Given the description of an element on the screen output the (x, y) to click on. 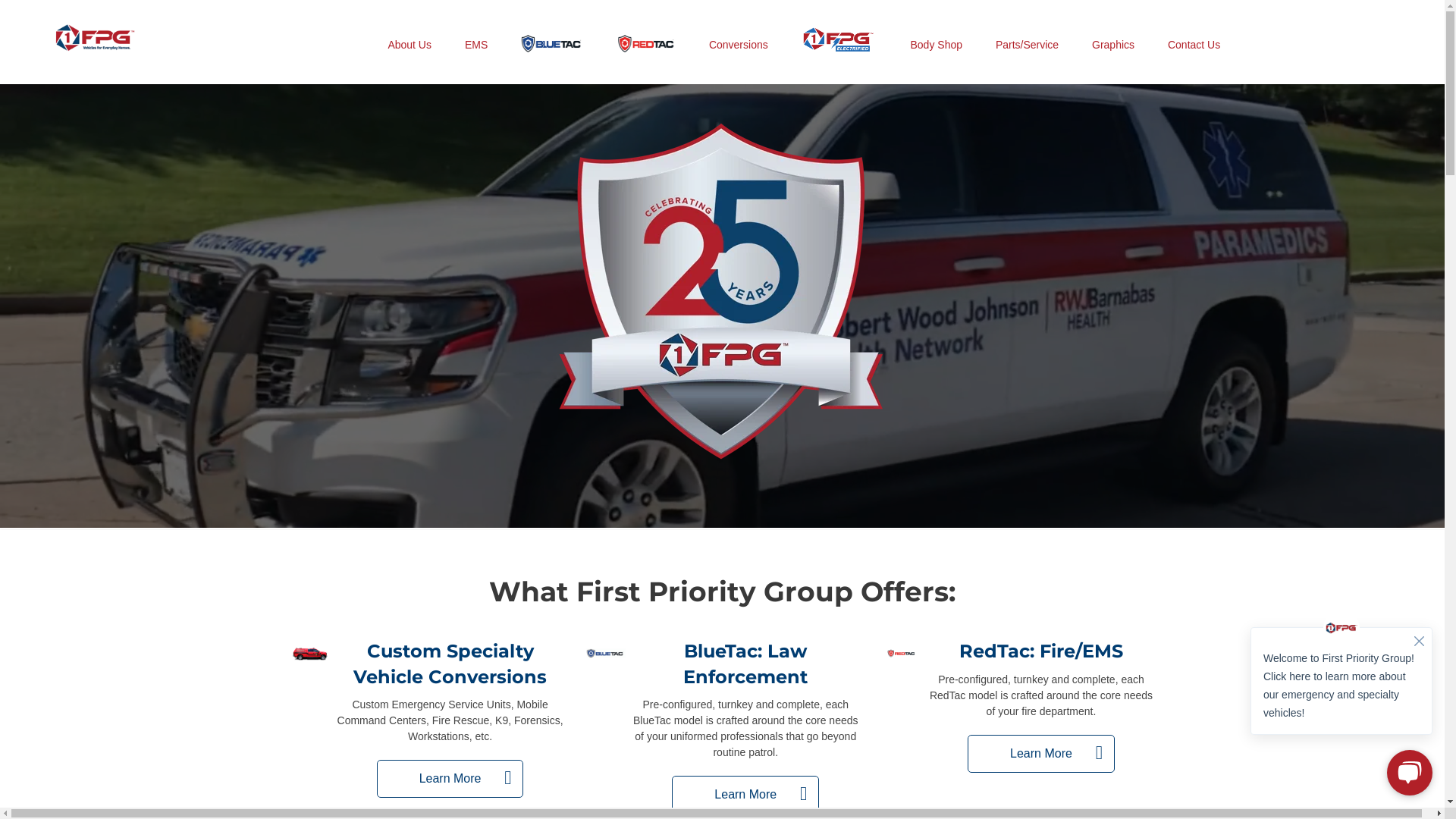
Learn More Element type: text (450, 778)
Graphics Element type: text (1112, 44)
Contact Us Element type: text (1193, 44)
BlueTac: Law Enforcement Element type: text (745, 663)
Body Shop Element type: text (935, 44)
Learn More Element type: text (745, 794)
Custom Specialty Vehicle Conversions Element type: text (449, 663)
Parts/Service Element type: text (1026, 44)
RedTac: Fire/EMS Element type: text (1041, 651)
About Us Element type: text (409, 44)
Conversions Element type: text (738, 44)
Learn More Element type: text (1040, 753)
EMS Element type: text (475, 44)
